Given the description of an element on the screen output the (x, y) to click on. 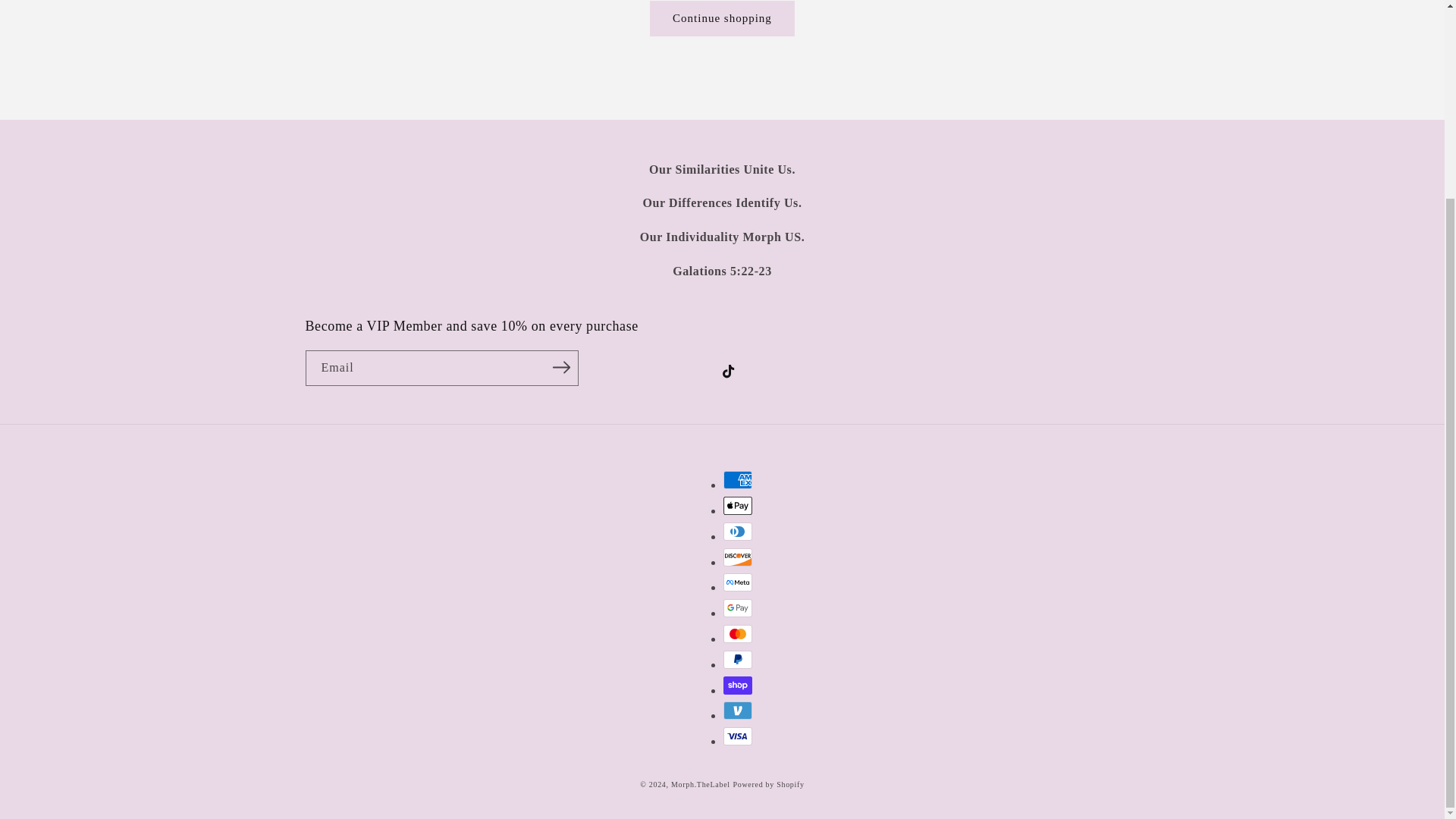
Continue shopping (721, 18)
Discover (737, 556)
American Express (737, 479)
PayPal (737, 659)
Venmo (737, 710)
Shop Pay (737, 685)
Mastercard (737, 633)
Apple Pay (737, 505)
Visa (737, 736)
Meta Pay (737, 582)
Diners Club (737, 531)
Google Pay (737, 607)
